Given the description of an element on the screen output the (x, y) to click on. 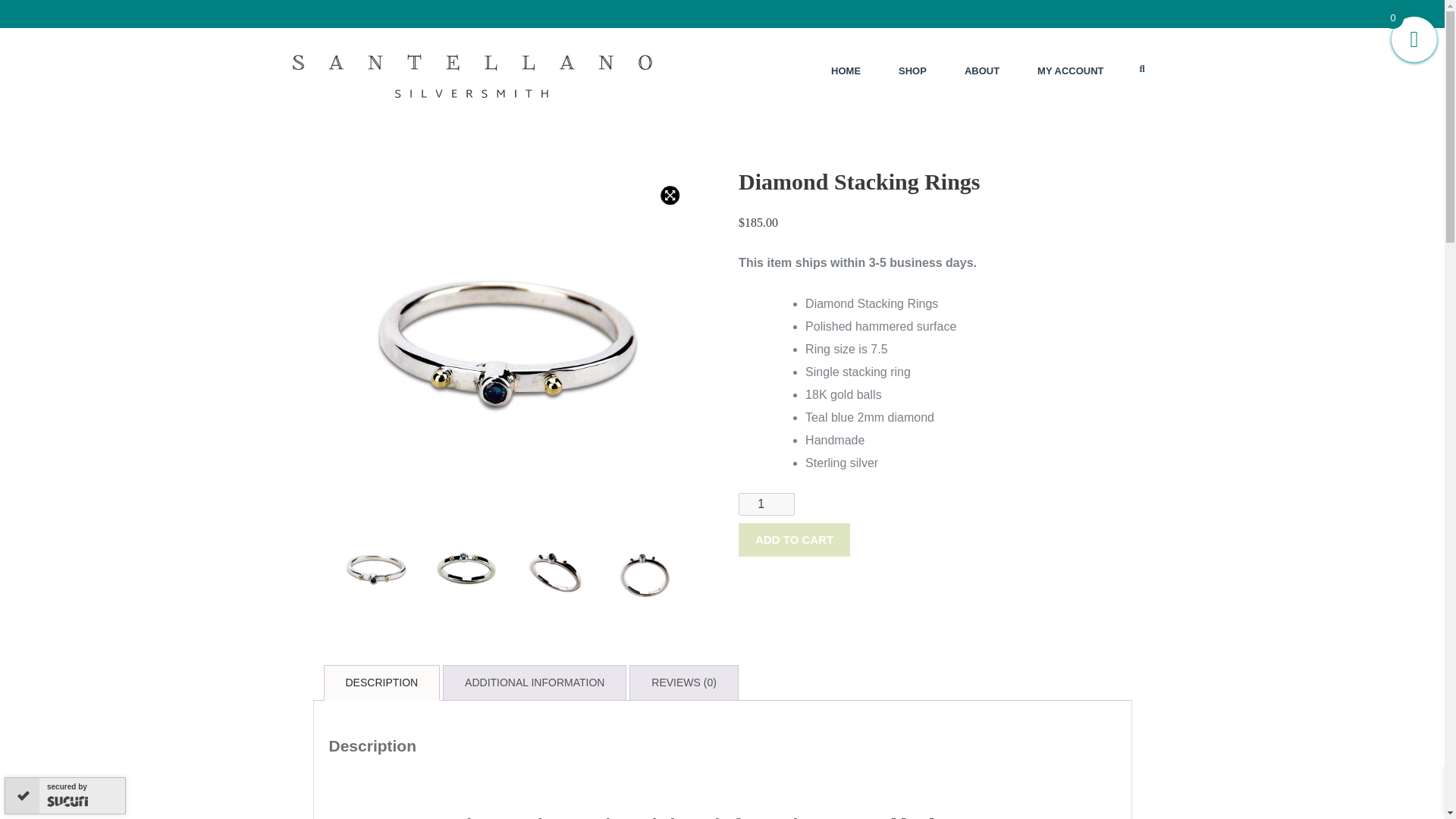
HOME (845, 70)
SHOP (911, 70)
ABOUT (980, 70)
1 (766, 504)
Jamie Santellano (335, 132)
